Given the description of an element on the screen output the (x, y) to click on. 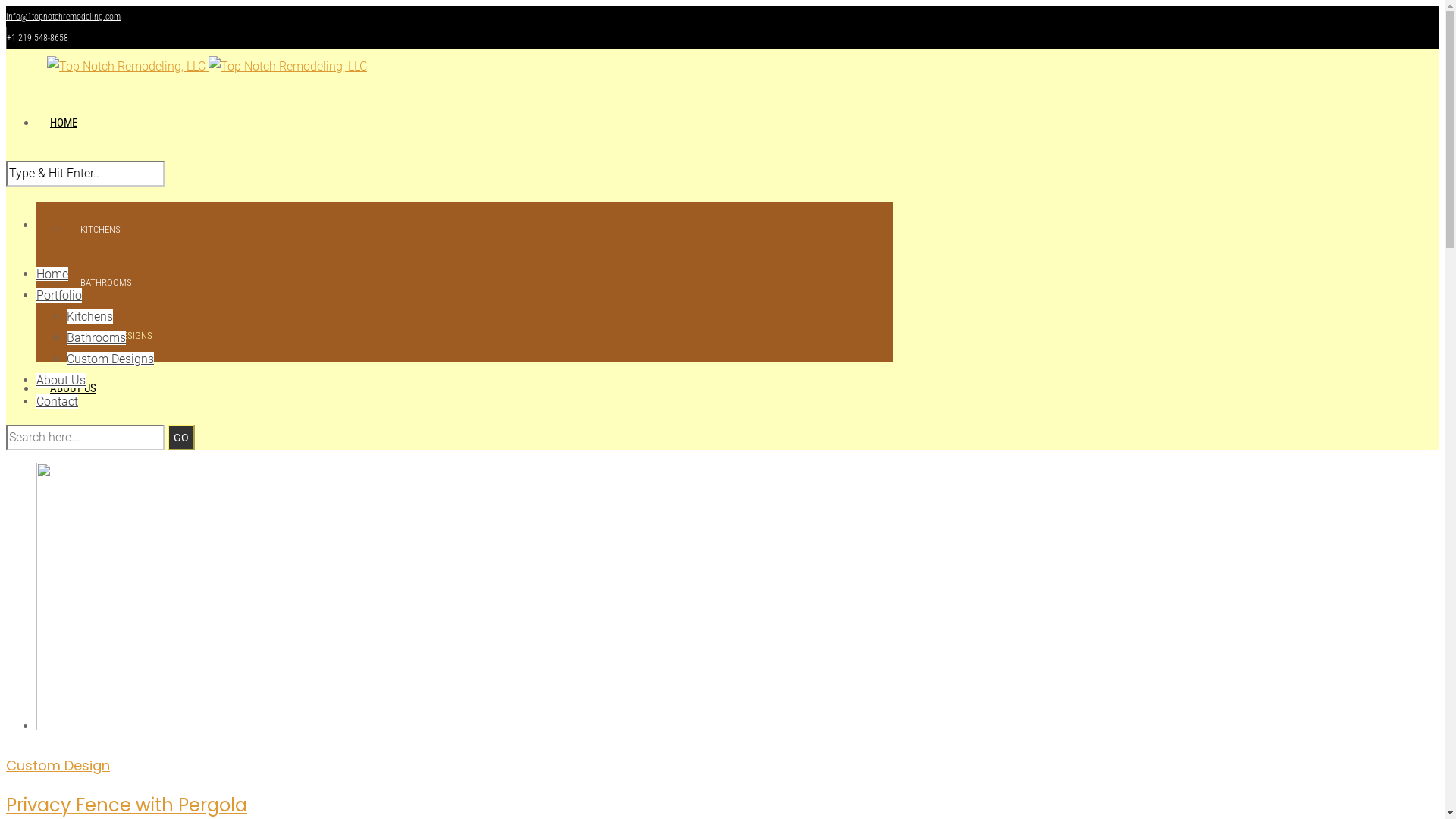
BATHROOMS Element type: text (105, 282)
Privacy Fence with Pergola Element type: text (126, 804)
CUSTOM DESIGNS Element type: text (116, 335)
Portfolio Element type: text (58, 295)
GO Element type: text (180, 437)
Custom Design Element type: text (57, 765)
Contact Element type: text (57, 401)
About Us Element type: text (60, 380)
KITCHENS Element type: text (100, 229)
CONTACT Element type: text (72, 441)
Custom Designs Element type: text (109, 358)
Home Element type: text (52, 273)
Top Notch Remodeling, LLC Element type: hover (287, 66)
Kitchens Element type: text (89, 316)
Top Notch Remodeling, LLC Element type: hover (207, 66)
Top Notch Remodeling, LLC Element type: hover (126, 66)
ABOUT US Element type: text (72, 388)
Bathrooms Element type: text (95, 337)
PORTFOLIO Element type: text (75, 175)
info@1topnotchremodeling.com Element type: text (63, 16)
HOME Element type: text (63, 122)
